Given the description of an element on the screen output the (x, y) to click on. 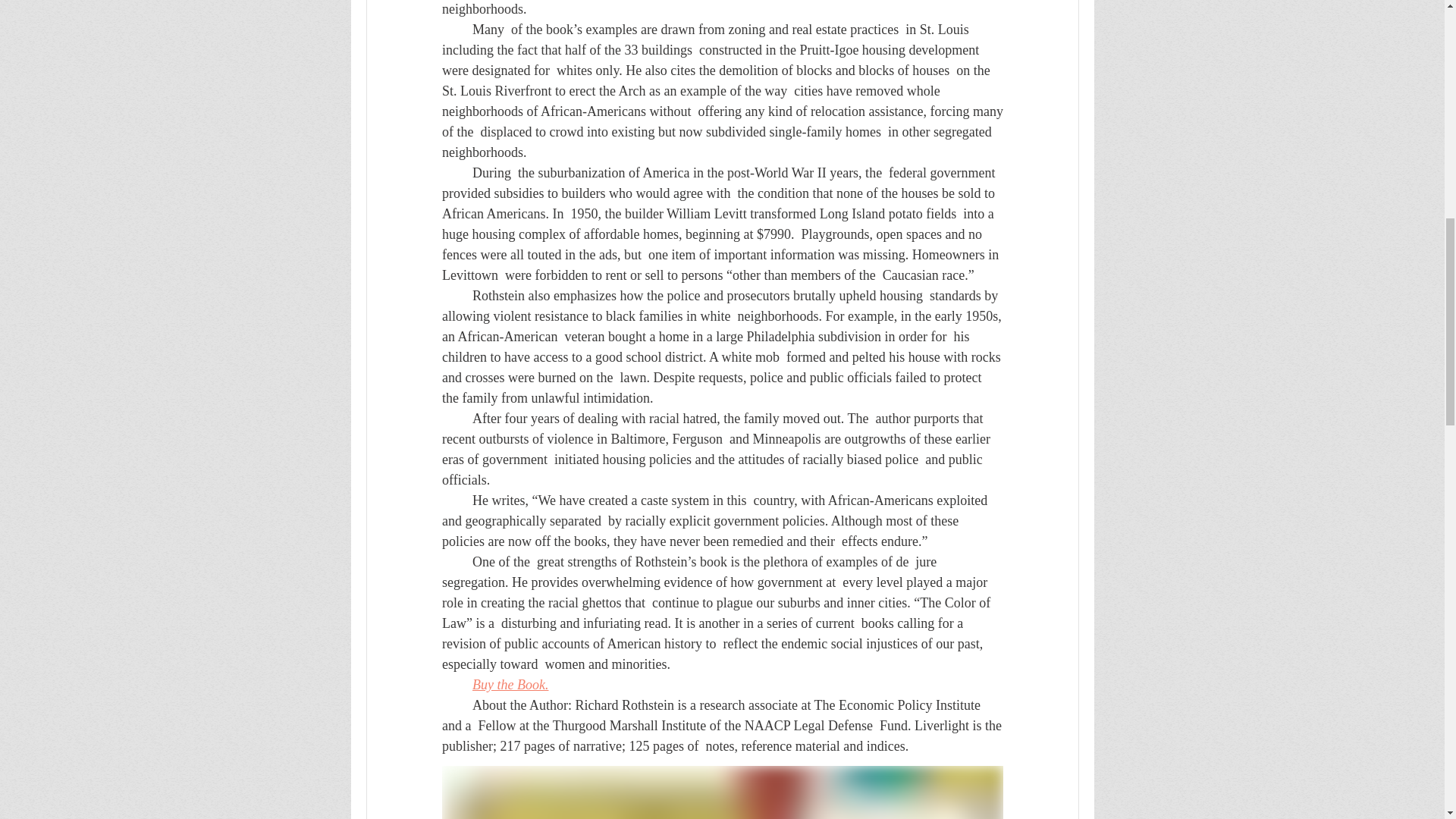
Buy the Book. (509, 684)
